Given the description of an element on the screen output the (x, y) to click on. 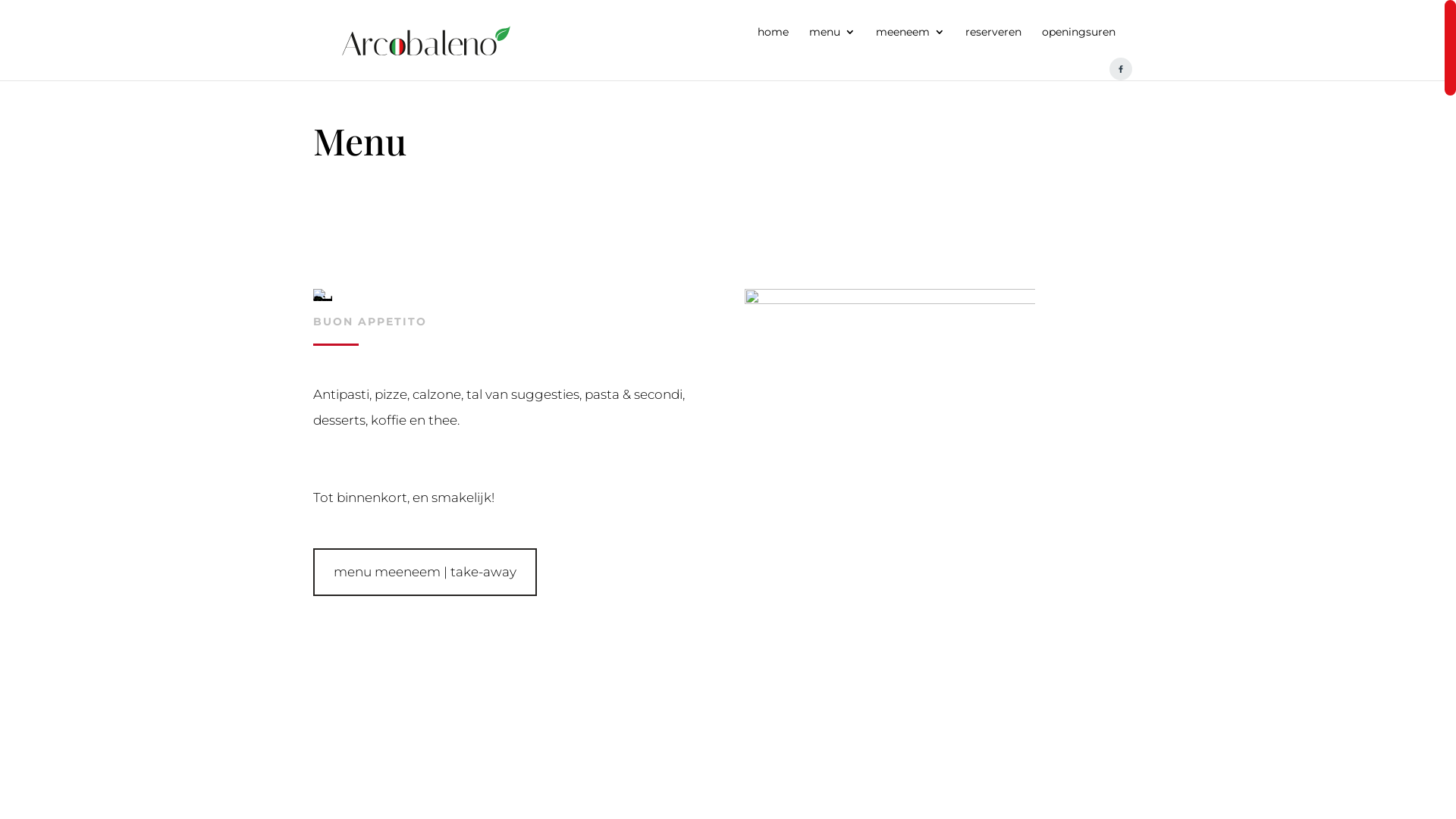
openingsuren Element type: text (1078, 44)
home Element type: text (771, 44)
menu Element type: text (831, 44)
menu meeneem | take-away Element type: text (424, 572)
meeneem Element type: text (909, 44)
reserveren Element type: text (992, 44)
